Given the description of an element on the screen output the (x, y) to click on. 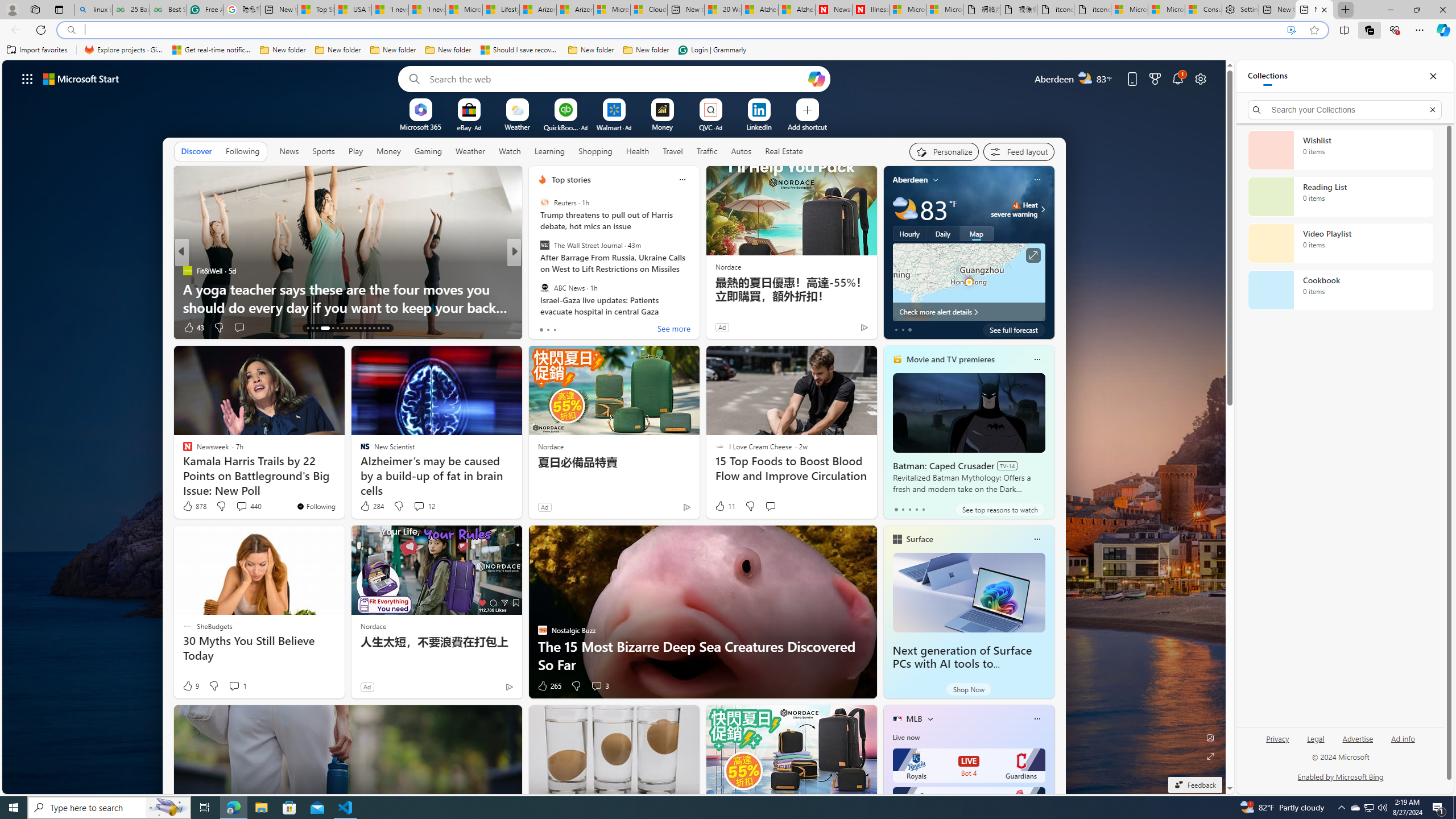
View comments 40 Comment (588, 327)
tab-4 (923, 509)
Weather (470, 151)
Worthly (537, 288)
oceanbluemarine (558, 288)
Should I save recovered Word documents? - Microsoft Support (519, 49)
Enter your search term (617, 78)
